Given the description of an element on the screen output the (x, y) to click on. 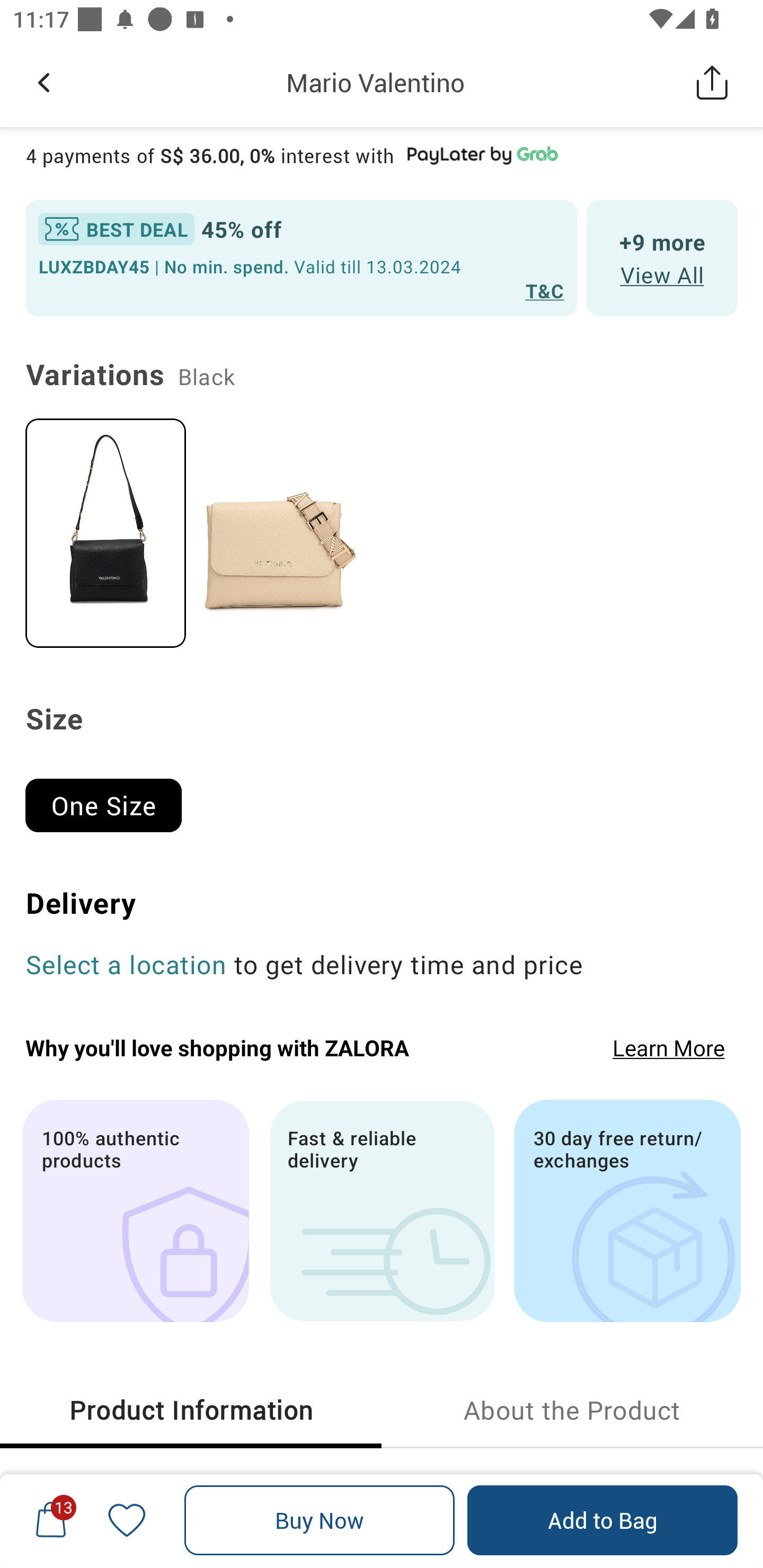
Mario Valentino (375, 82)
Share this Product (711, 82)
+9 more
View All (661, 258)
T&C (544, 290)
One Size (111, 796)
Learn More (668, 1047)
100% authentic products (135, 1210)
Fast & reliable delivery (381, 1210)
30 day free return/exchanges (627, 1210)
About the Product (572, 1410)
Buy Now (319, 1519)
Add to Bag (601, 1519)
13 (50, 1520)
